Given the description of an element on the screen output the (x, y) to click on. 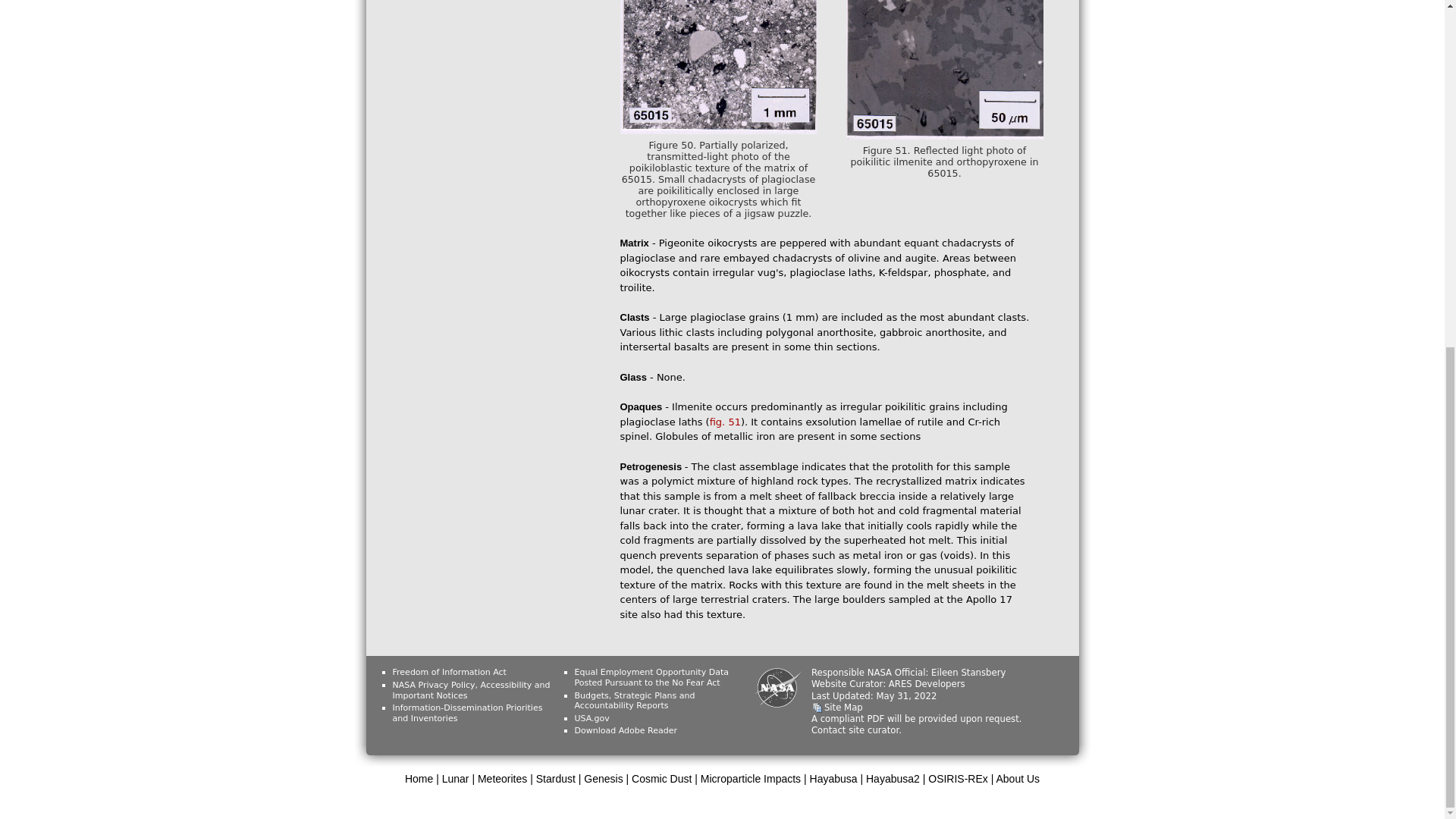
Freedom of Information Act (449, 672)
Thin section photo of sample 65015 in reflected light (725, 421)
NASA Privacy Policy, Accessibility and Important Notices (471, 690)
